Given the description of an element on the screen output the (x, y) to click on. 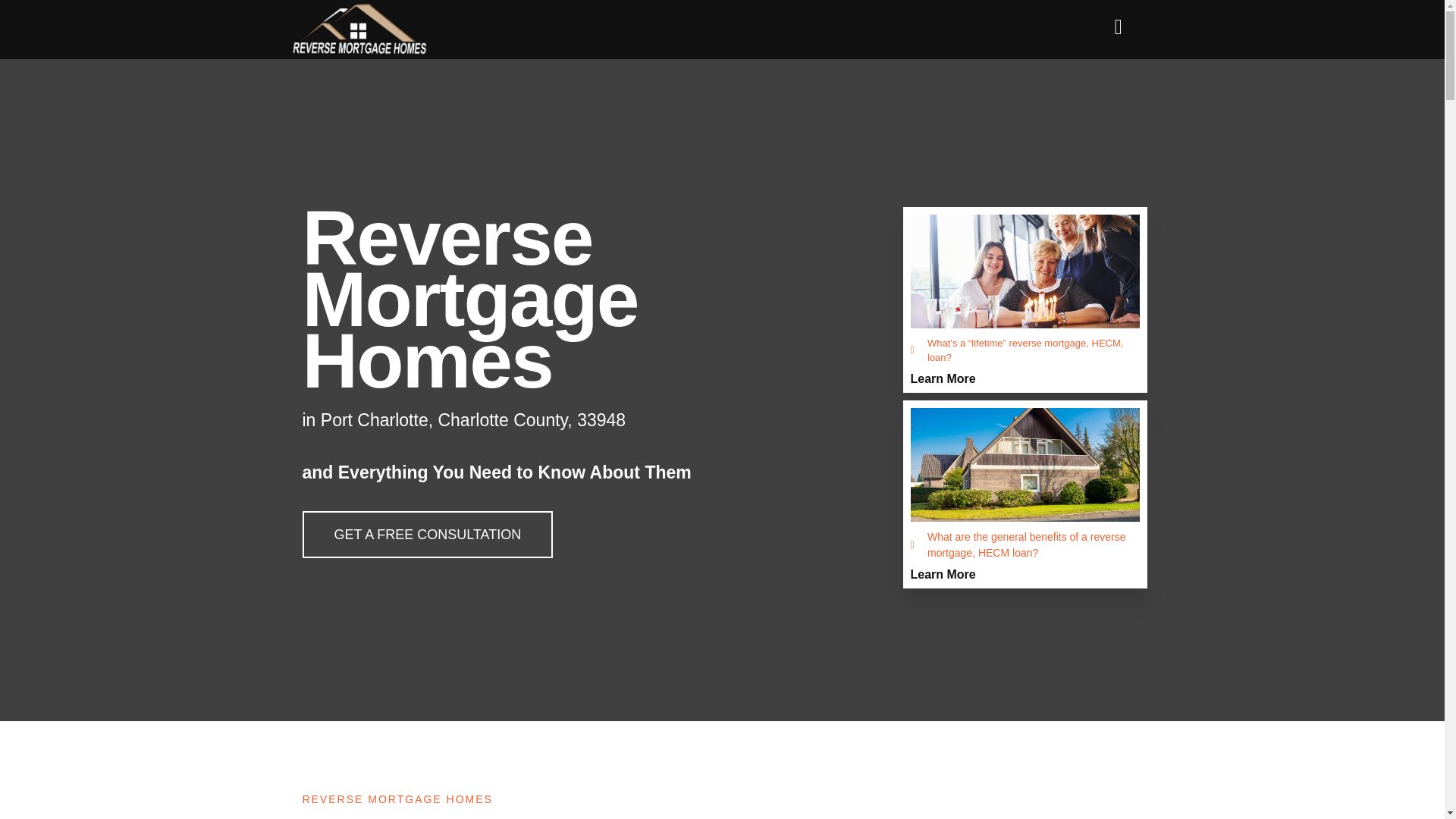
Learn More (942, 574)
GET A FREE CONSULTATION (427, 534)
Learn More (942, 378)
29331391 (358, 29)
